Given the description of an element on the screen output the (x, y) to click on. 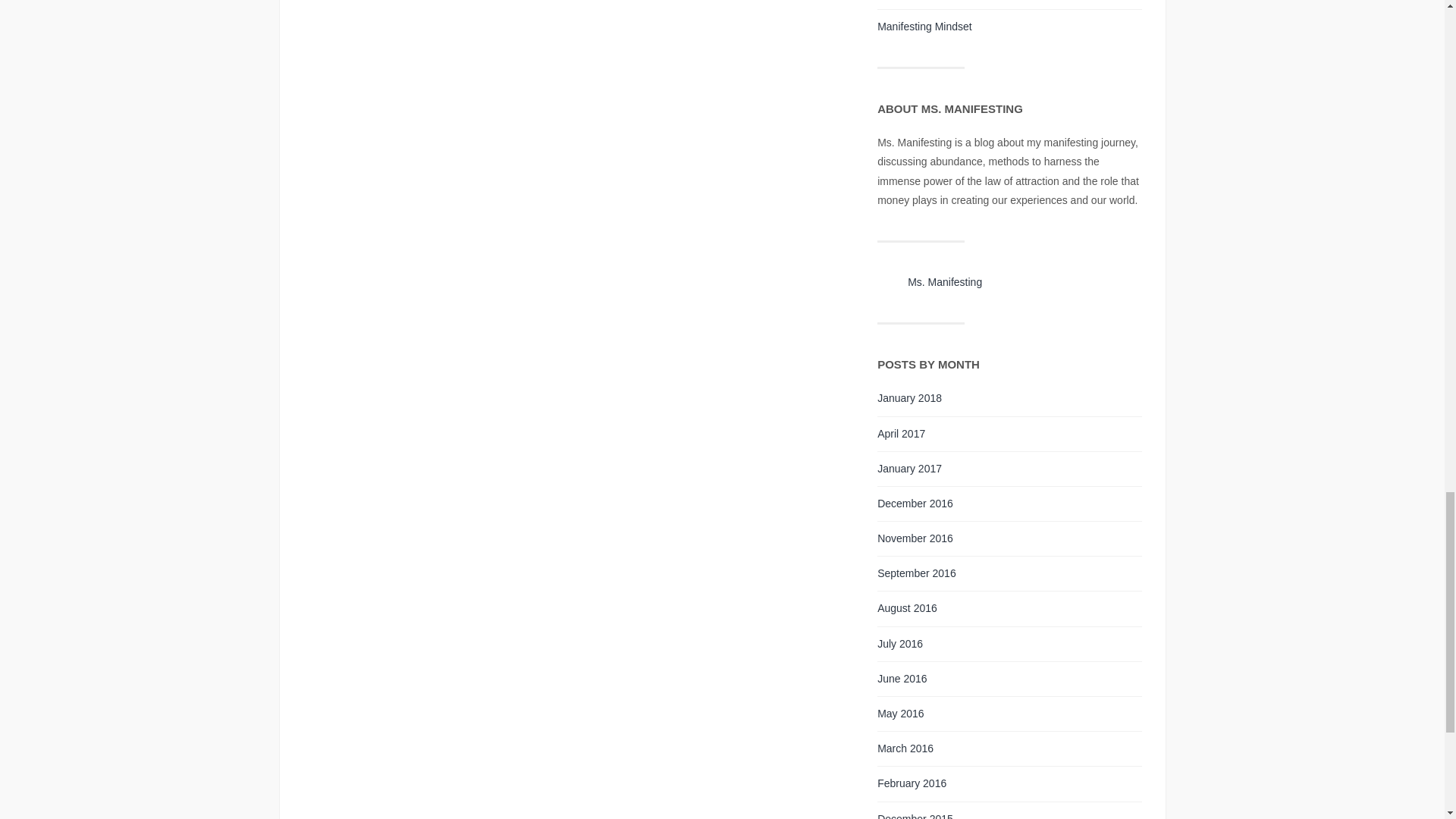
April 2017 (900, 433)
Ms. Manifesting (944, 282)
December 2015 (915, 816)
March 2016 (905, 748)
September 2016 (916, 573)
Manifesting Mindset (924, 26)
June 2016 (901, 678)
December 2016 (915, 503)
July 2016 (900, 644)
May 2016 (900, 713)
